Given the description of an element on the screen output the (x, y) to click on. 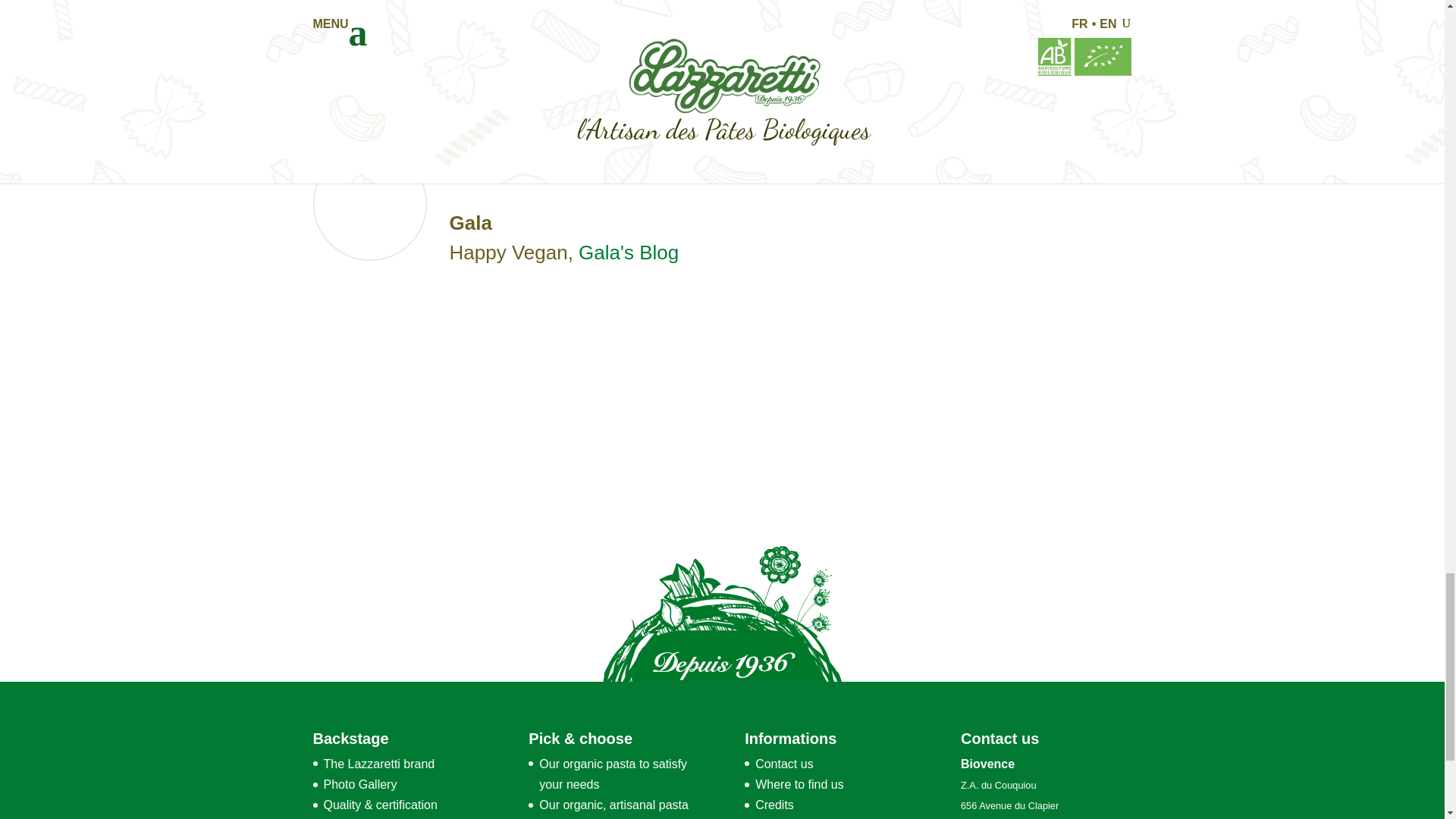
The Lazzaretti brand (378, 763)
Gala's Blog (628, 251)
Photo Gallery (359, 784)
